Given the description of an element on the screen output the (x, y) to click on. 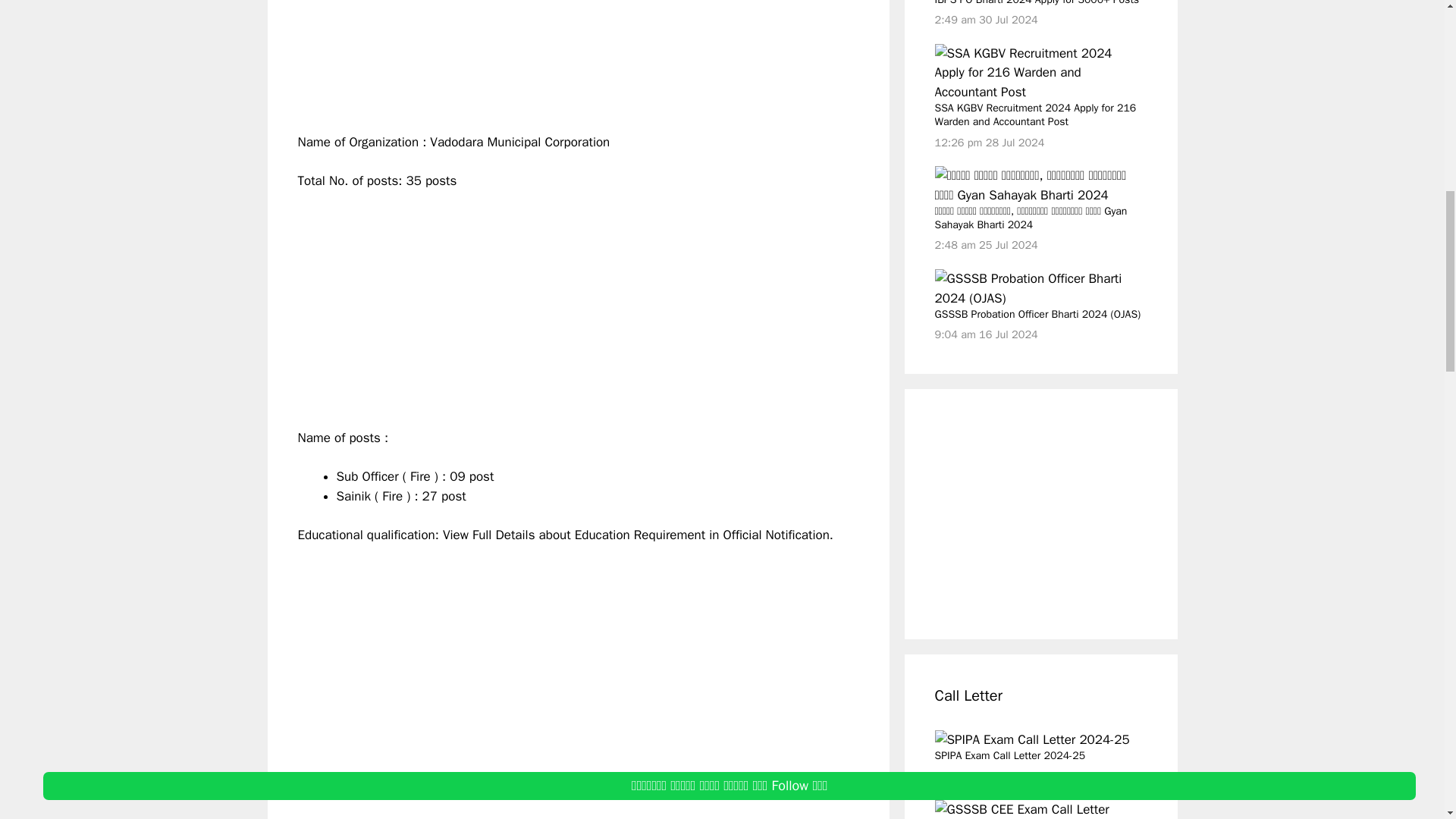
GSSSB CEE Exam Call Letter 2024 CBRT Demo Mock Test (1036, 809)
SPIPA Exam Call Letter 2024-25 (1031, 740)
